Given the description of an element on the screen output the (x, y) to click on. 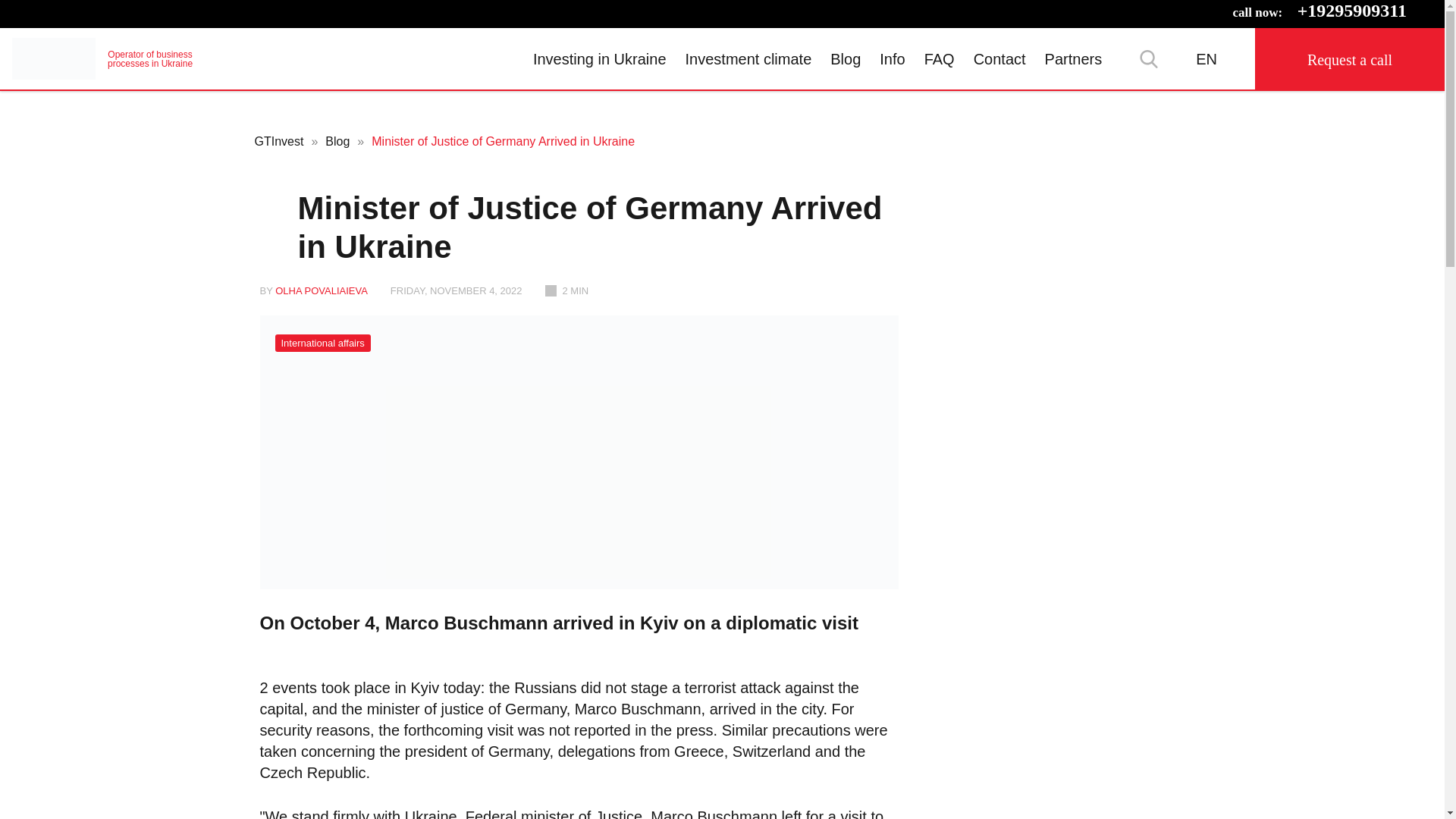
GTInvest (101, 58)
International affairs (322, 343)
Investing in Ukraine (101, 58)
